Given the description of an element on the screen output the (x, y) to click on. 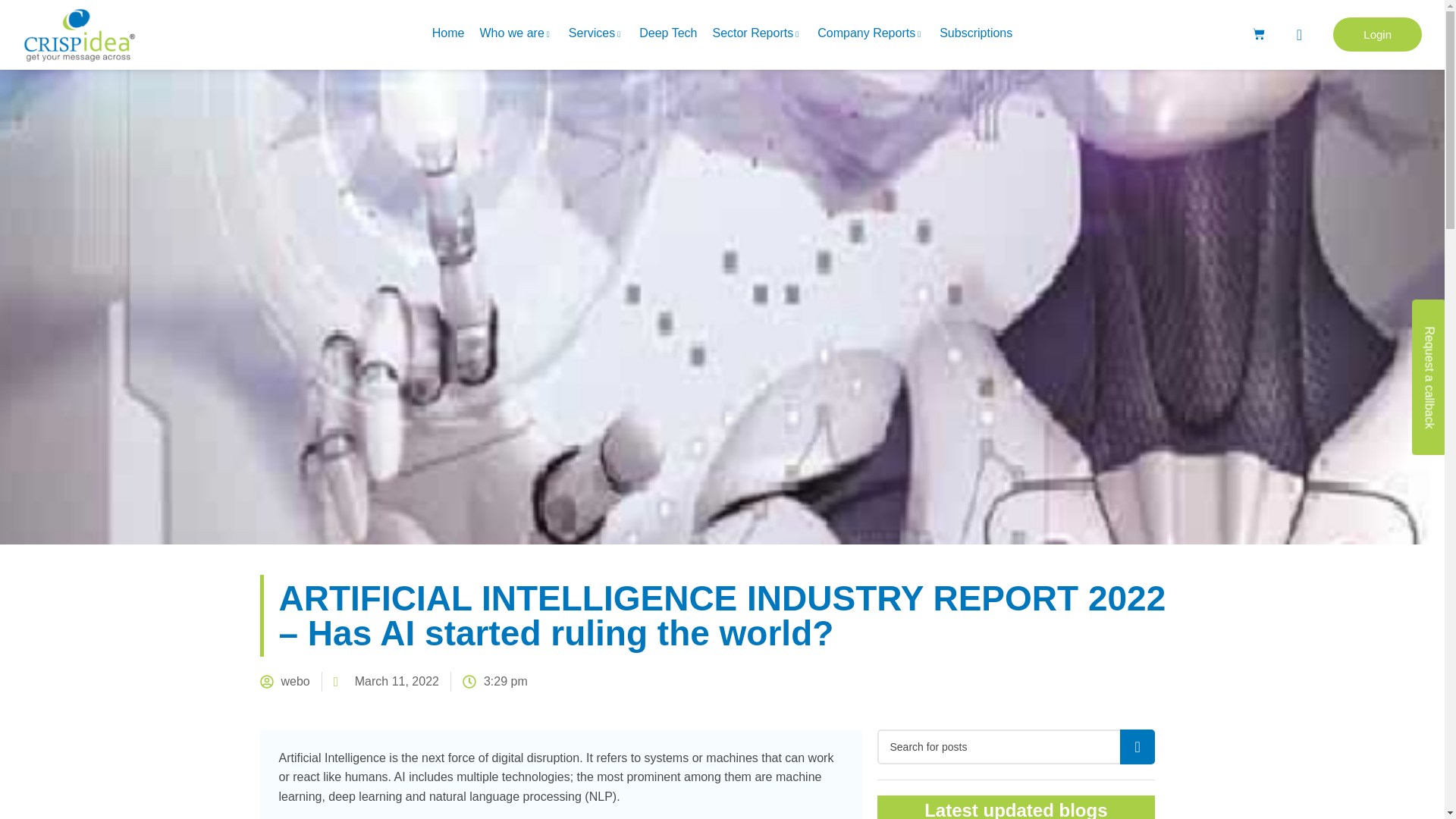
Company Reports (870, 36)
Sector Reports (756, 36)
Deep Tech (667, 36)
Who we are (515, 36)
Home (448, 36)
Search for posts (1015, 746)
Services (595, 36)
